Given the description of an element on the screen output the (x, y) to click on. 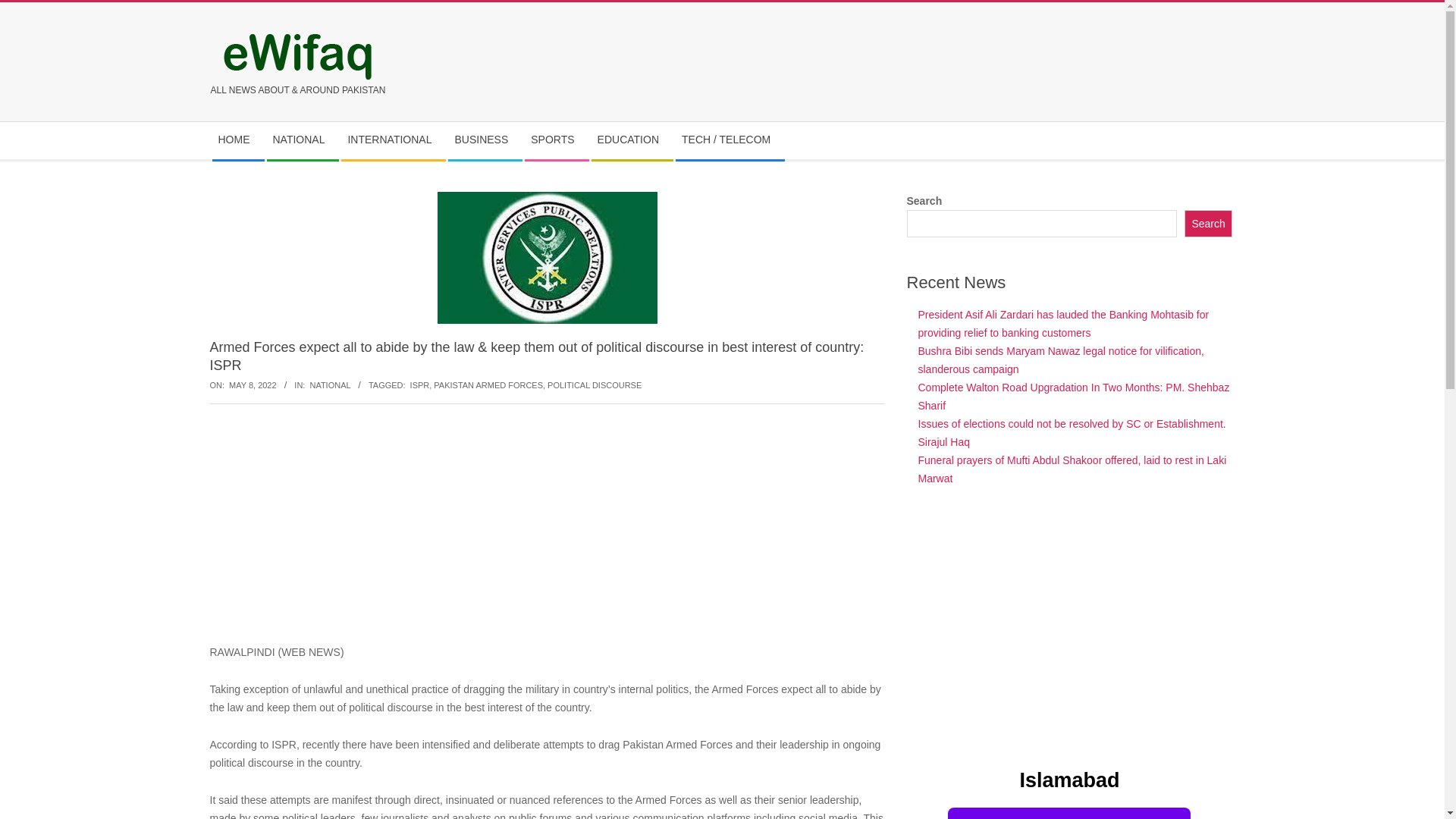
Advertisement (1070, 627)
NATIONAL (329, 384)
HOME (237, 140)
PAKISTAN ARMED FORCES (488, 384)
Sunday, May 8, 2022, 10:53 pm (252, 384)
POLITICAL DISCOURSE (594, 384)
ISPR (419, 384)
Search (1209, 223)
